Given the description of an element on the screen output the (x, y) to click on. 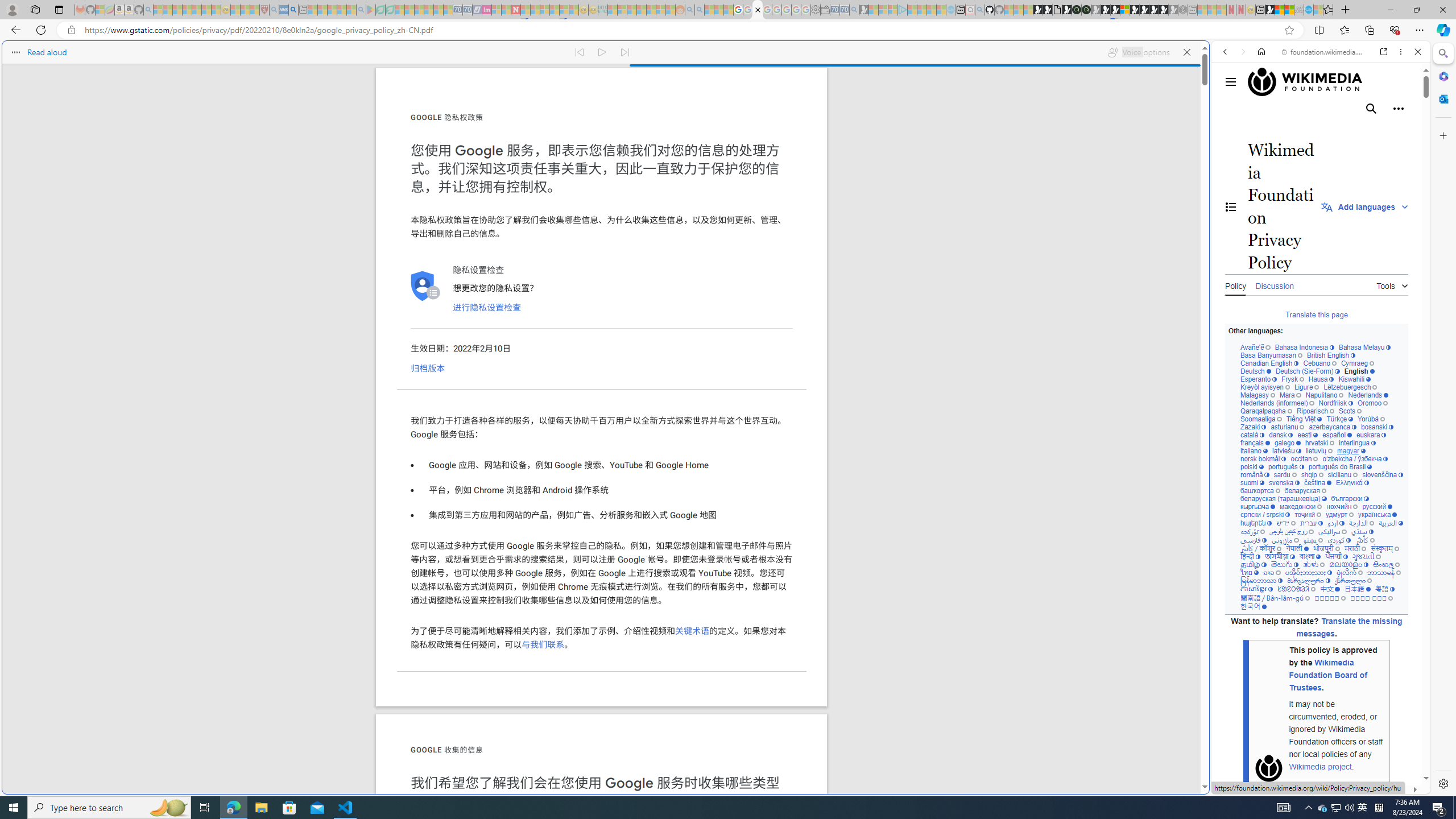
Bluey: Let's Play! - Apps on Google Play - Sleeping (370, 9)
Services - Maintenance | Sky Blue Bikes - Sky Blue Bikes (1307, 9)
